Given the description of an element on the screen output the (x, y) to click on. 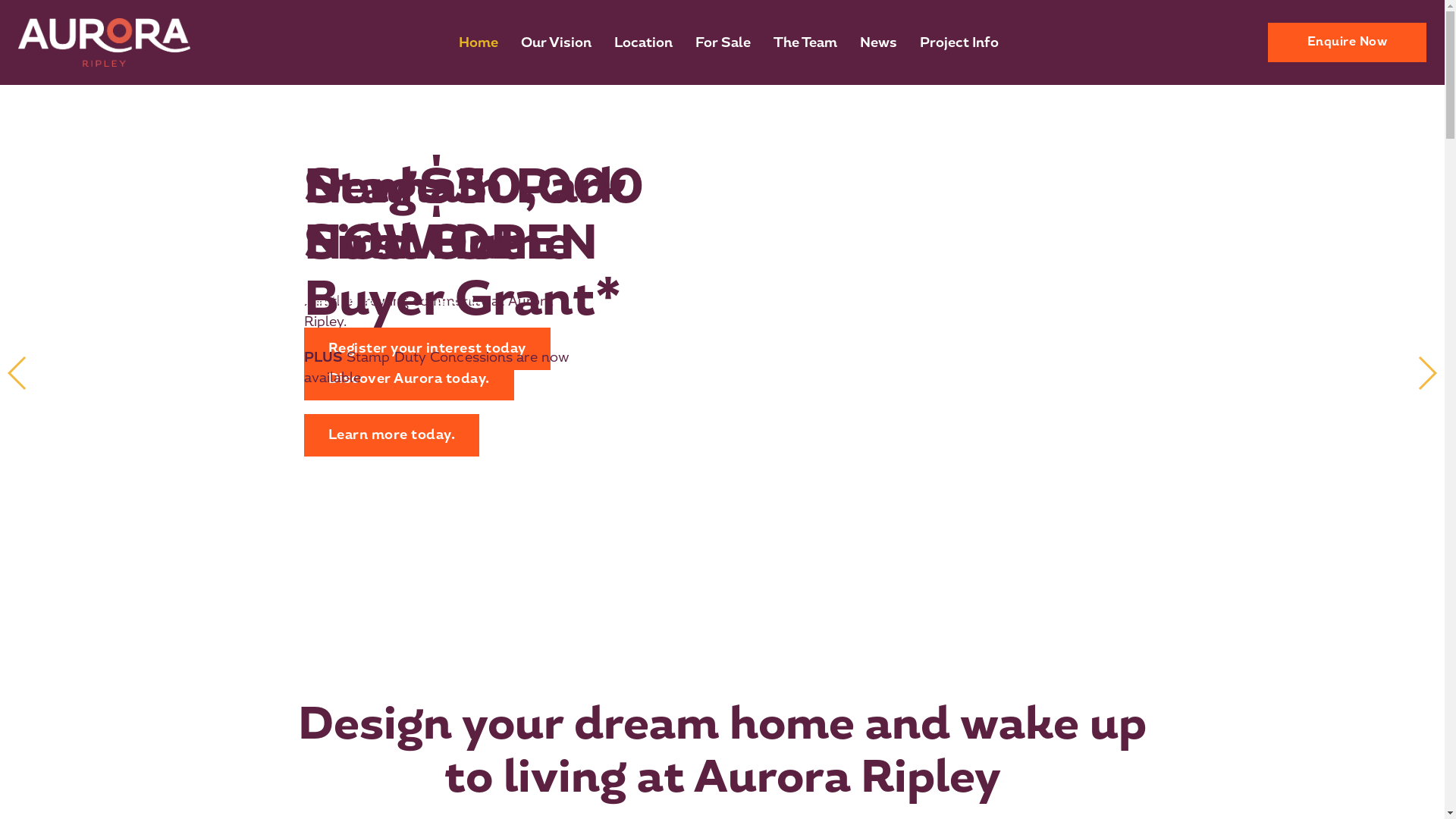
Location Element type: text (643, 41)
The Team Element type: text (805, 41)
Register your interest today Element type: text (426, 348)
Aurora Ripley Element type: hover (104, 42)
Skip to primary navigation Element type: text (18, 18)
Enquire Now Element type: text (1347, 42)
Learn more today. Element type: text (391, 435)
News Element type: text (878, 41)
Discover Aurora today. Element type: text (408, 378)
Home Element type: text (478, 41)
For Sale Element type: text (723, 41)
Our Vision Element type: text (555, 41)
Project Info Element type: text (959, 41)
